Given the description of an element on the screen output the (x, y) to click on. 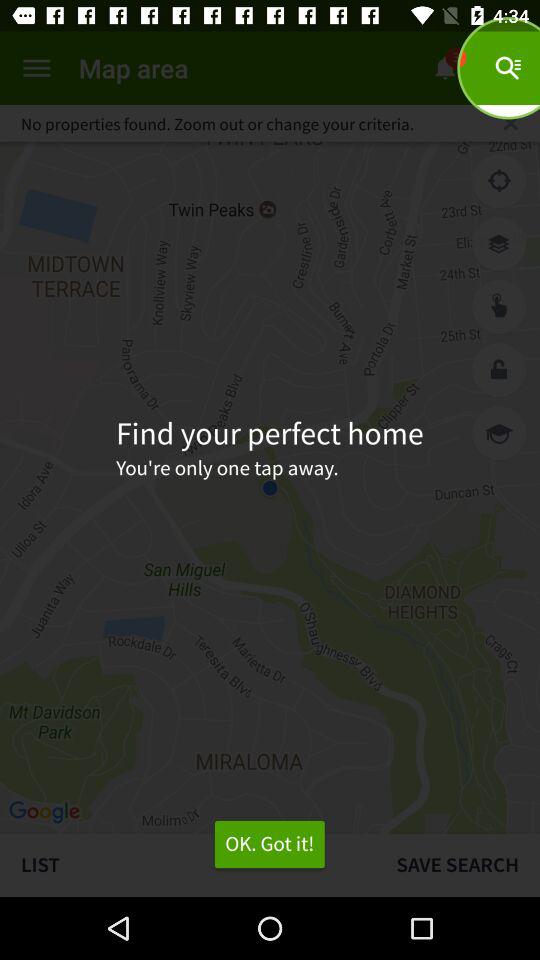
open icon next to the save search icon (269, 844)
